Given the description of an element on the screen output the (x, y) to click on. 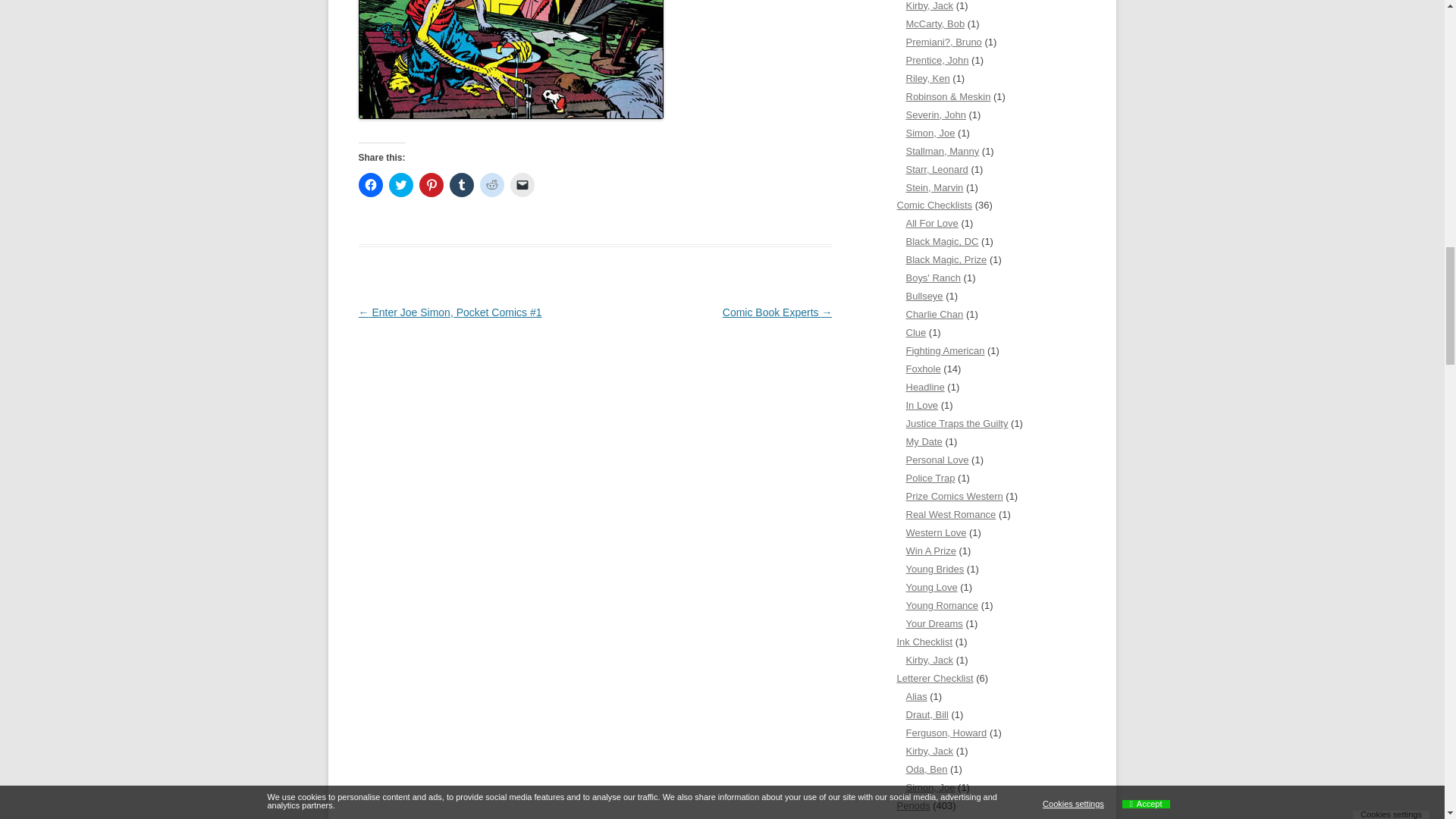
Click to share on Pinterest (430, 184)
Click to share on Tumblr (460, 184)
Click to share on Twitter (400, 184)
Click to email a link to a friend (521, 184)
Click to share on Facebook (369, 184)
Click to share on Reddit (491, 184)
